Given the description of an element on the screen output the (x, y) to click on. 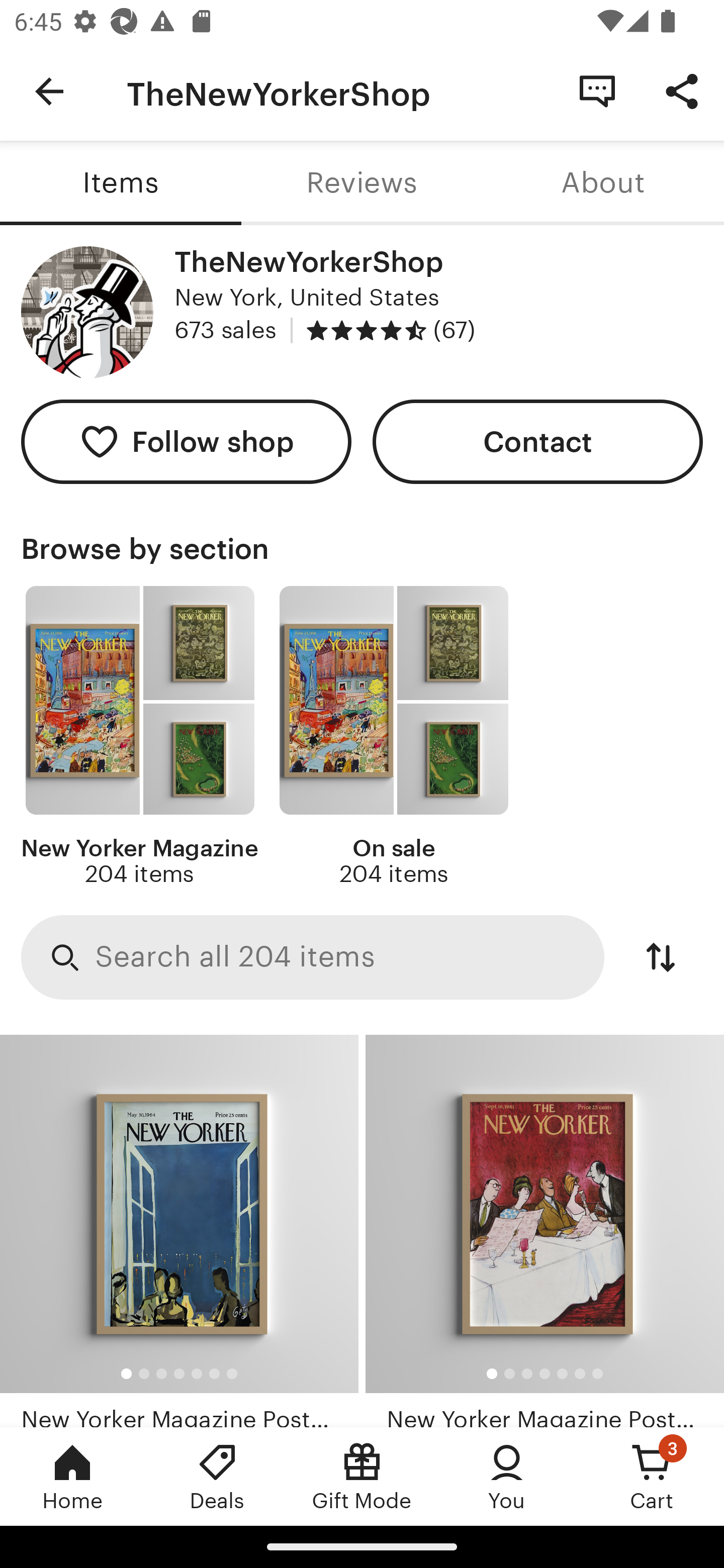
Navigate up (49, 91)
Contact Shop (597, 90)
Share (681, 90)
Reviews (361, 183)
About (603, 183)
Follow shop (185, 441)
Contact (537, 441)
New Yorker Magazine 204 items (139, 736)
On sale 204 items (393, 736)
Search Search all 204 items (312, 957)
Deals (216, 1475)
Gift Mode (361, 1475)
You (506, 1475)
Cart, 3 new notifications Cart (651, 1475)
